Given the description of an element on the screen output the (x, y) to click on. 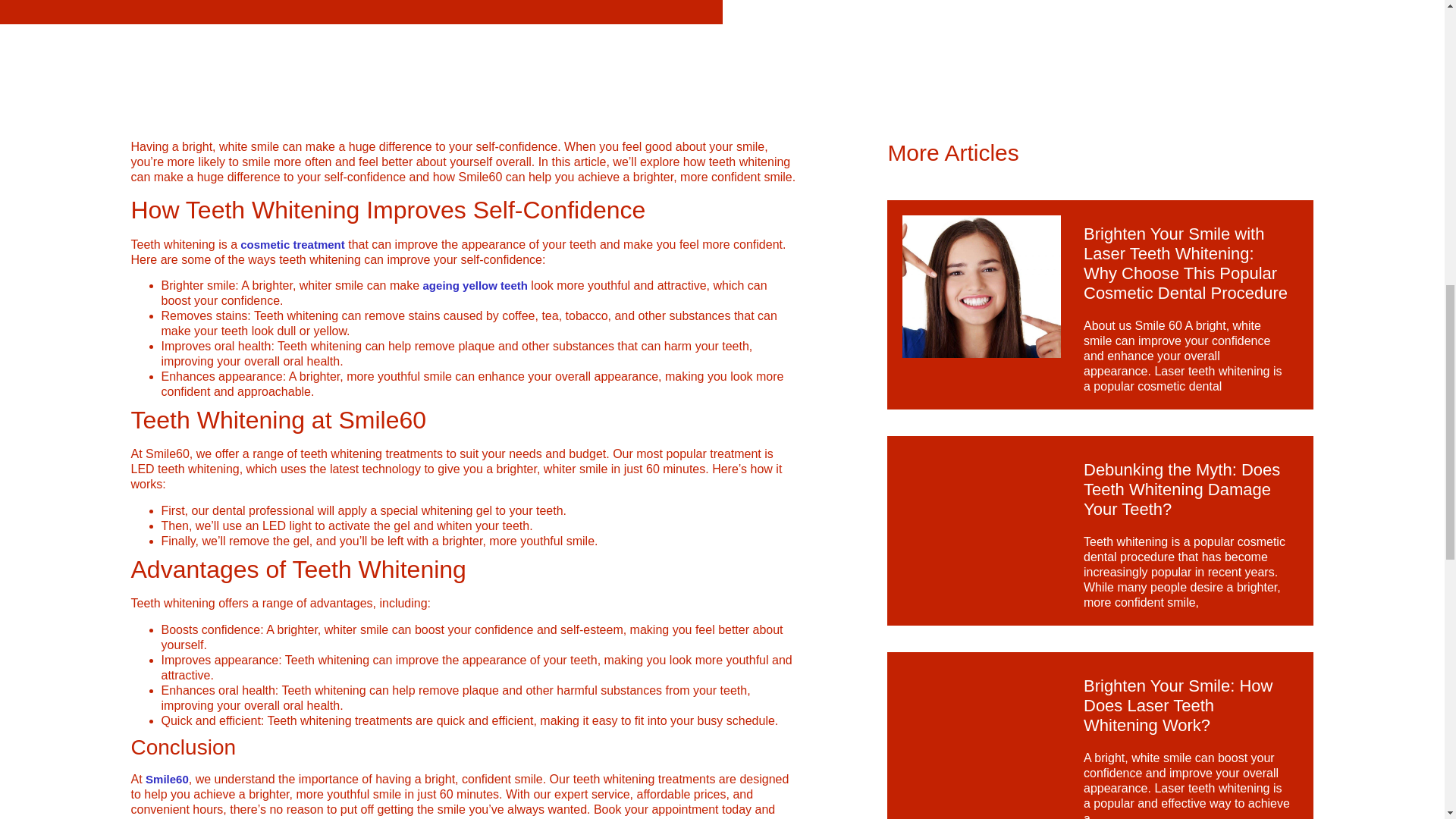
ageing yellow teeth (475, 285)
